Given the description of an element on the screen output the (x, y) to click on. 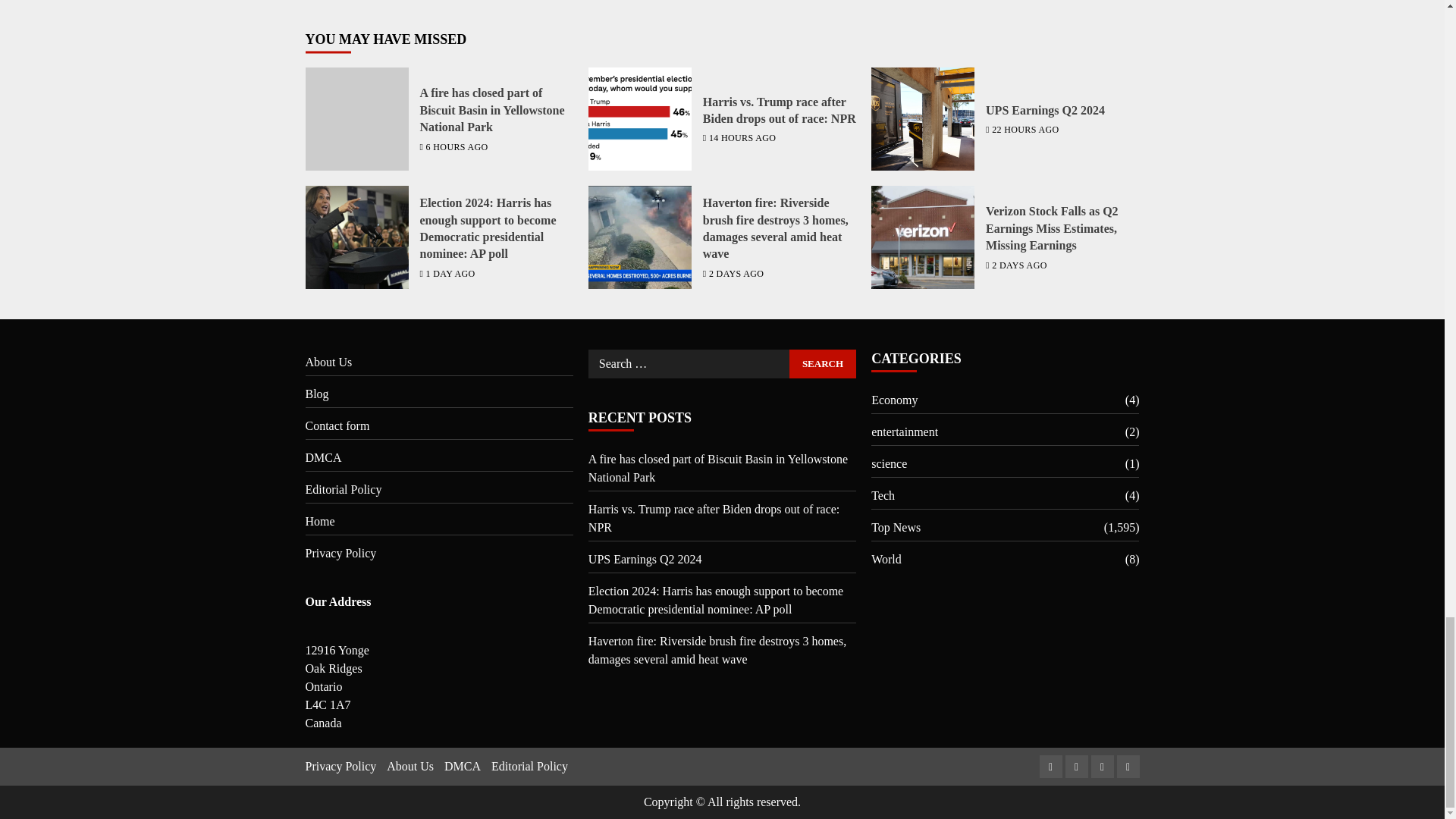
UPS Earnings Q2 2024 (922, 118)
Search (822, 363)
Search (822, 363)
Harris vs. Trump race after Biden drops out of race: NPR (639, 118)
